Given the description of an element on the screen output the (x, y) to click on. 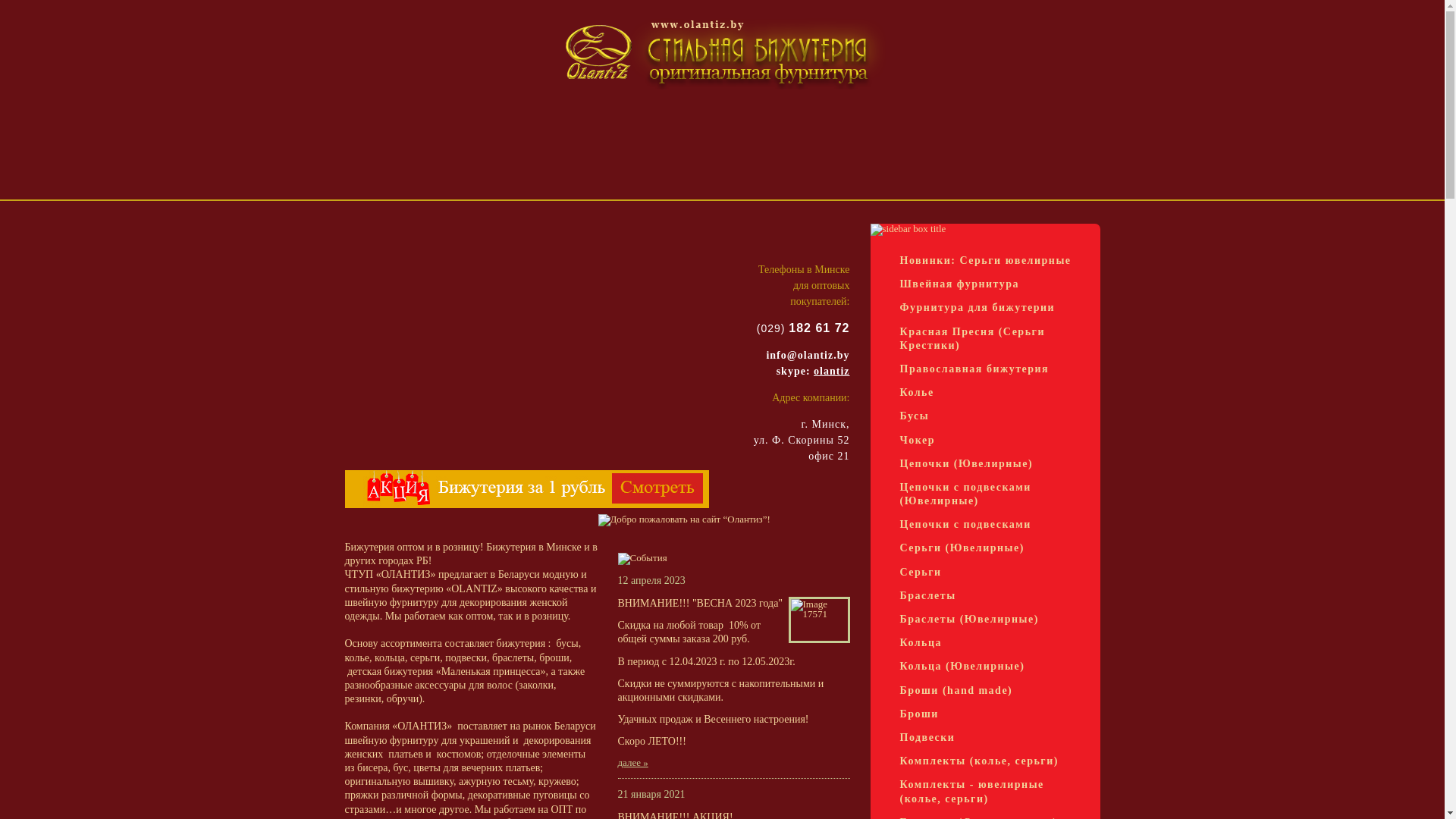
olantiz Element type: text (831, 370)
